Given the description of an element on the screen output the (x, y) to click on. 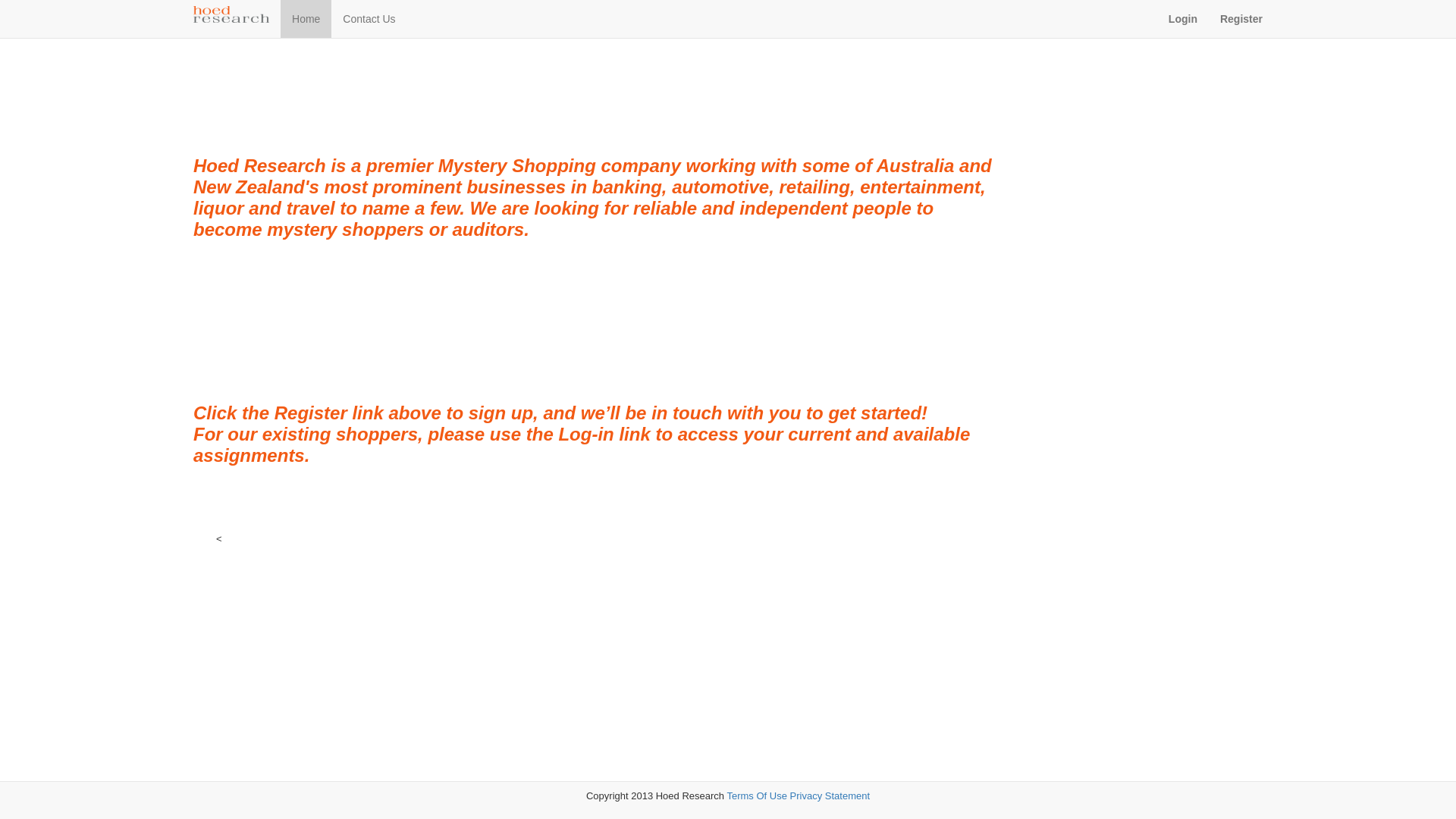
Login Element type: text (1182, 18)
Terms Of Use Element type: text (756, 795)
Contact Us Element type: text (368, 18)
Privacy Statement Element type: text (830, 795)
Register Element type: text (1241, 18)
Home Element type: text (305, 18)
